Given the description of an element on the screen output the (x, y) to click on. 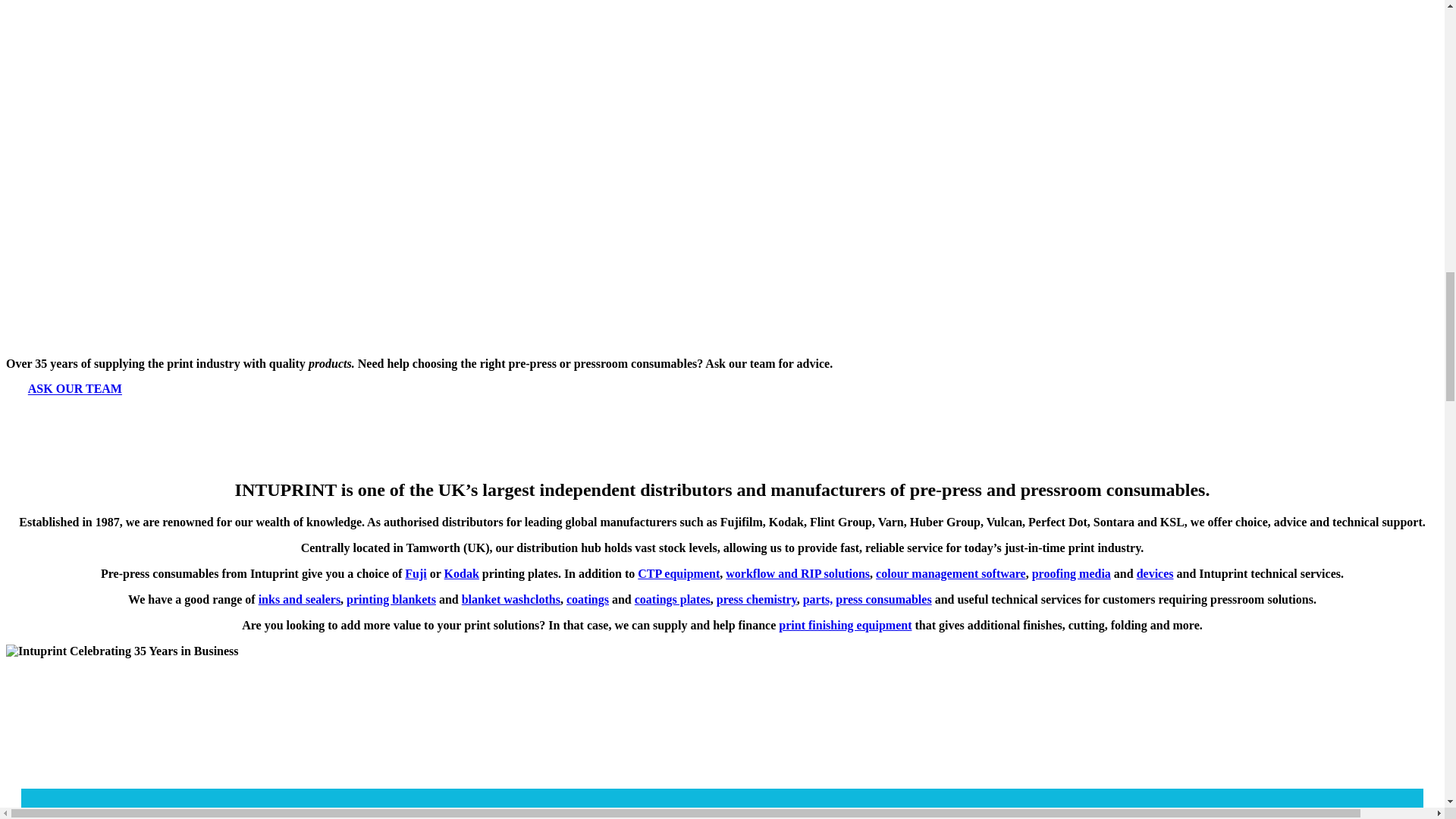
Contact Us (74, 388)
INTUPRINT-35-YEARS (121, 651)
